Given the description of an element on the screen output the (x, y) to click on. 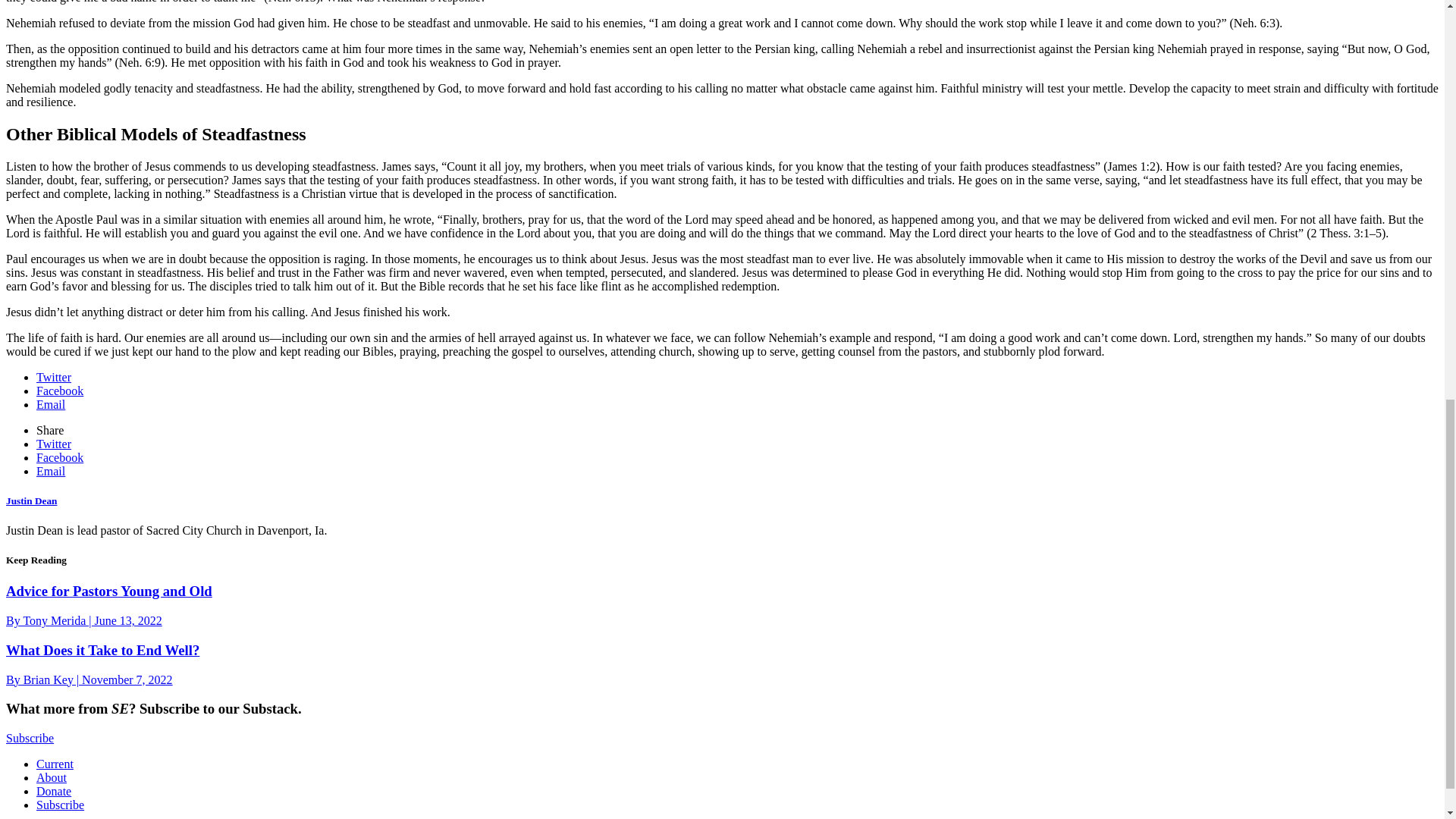
Facebook (59, 457)
Email (50, 404)
Twitter (53, 443)
Twitter (53, 377)
Subscribe (29, 738)
Justin Dean (30, 500)
Email (50, 471)
Current (55, 763)
Subscribe (60, 804)
Donate (53, 790)
